Given the description of an element on the screen output the (x, y) to click on. 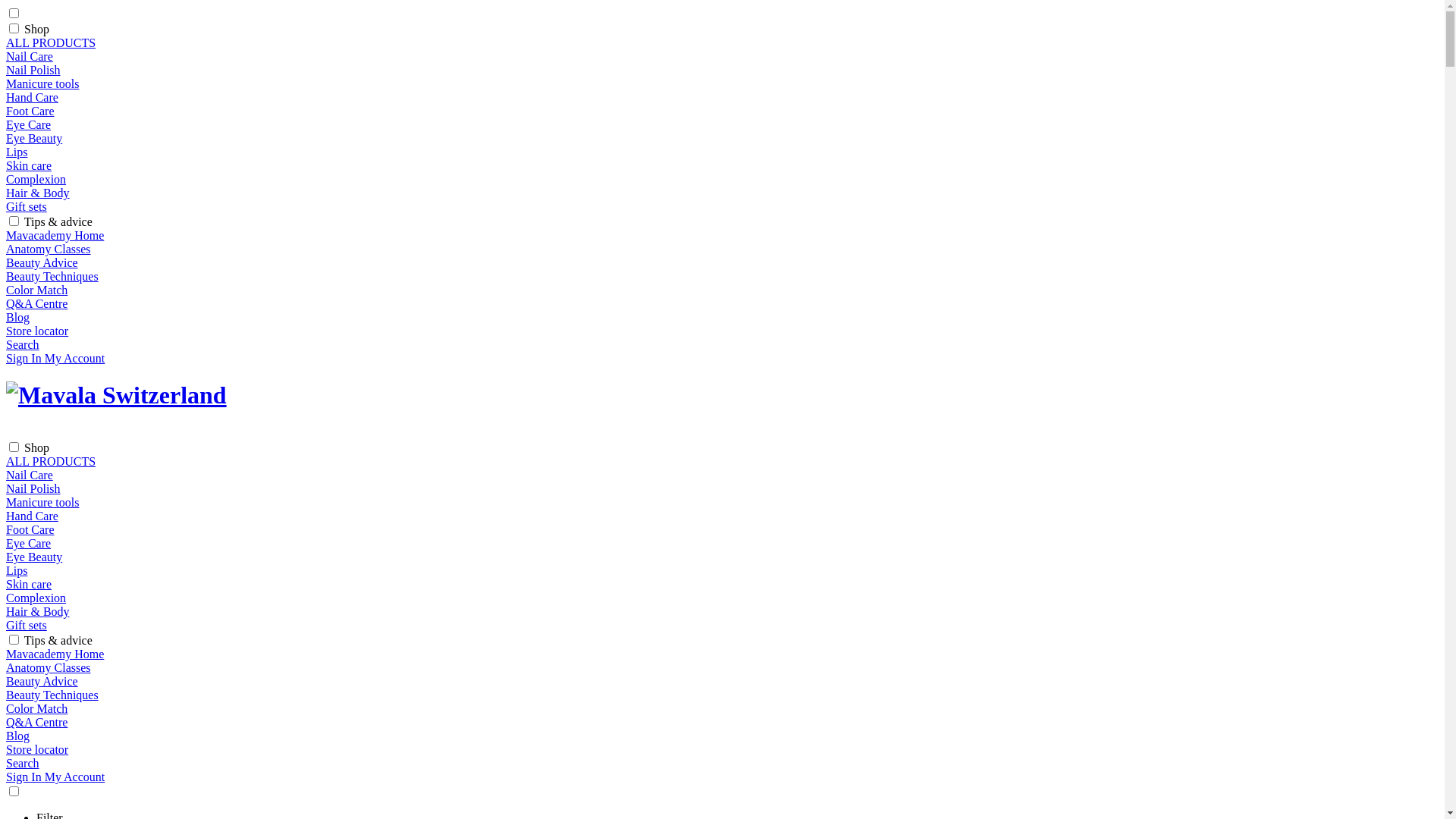
Lips Element type: text (16, 570)
Tips & advice Element type: text (58, 639)
Beauty Advice Element type: text (42, 262)
Store locator Element type: text (37, 749)
ALL PRODUCTS Element type: text (50, 42)
Search Element type: text (22, 344)
Eye Care Element type: text (28, 124)
Q&A Centre Element type: text (36, 721)
Eye Care Element type: text (28, 542)
Mavacademy Home Element type: text (54, 653)
ALL PRODUCTS Element type: text (50, 461)
Nail Polish Element type: text (33, 69)
Hair & Body Element type: text (37, 192)
Color Match Element type: text (36, 289)
Sign In My Account Element type: text (55, 776)
Nail Care Element type: text (29, 56)
Eye Beauty Element type: text (34, 556)
Nail Polish Element type: text (33, 488)
Nail Care Element type: text (29, 474)
Shop Element type: text (36, 447)
Mavacademy Home Element type: text (54, 235)
Sign In My Account Element type: text (55, 357)
Complexion Element type: text (35, 597)
Foot Care Element type: text (30, 110)
Gift sets Element type: text (26, 624)
Skin care Element type: text (28, 583)
Beauty Techniques Element type: text (52, 694)
Anatomy Classes Element type: text (48, 667)
Manicure tools Element type: text (42, 83)
Beauty Advice Element type: text (42, 680)
Manicure tools Element type: text (42, 501)
Skin care Element type: text (28, 165)
Beauty Techniques Element type: text (52, 275)
Shop Element type: text (36, 28)
Store locator Element type: text (37, 330)
Hand Care Element type: text (32, 97)
Q&A Centre Element type: text (36, 303)
Complexion Element type: text (35, 178)
Eye Beauty Element type: text (34, 137)
Tips & advice Element type: text (58, 221)
Blog Element type: text (17, 735)
Foot Care Element type: text (30, 529)
Hand Care Element type: text (32, 515)
Lips Element type: text (16, 151)
Hair & Body Element type: text (37, 611)
Gift sets Element type: text (26, 206)
Blog Element type: text (17, 316)
Anatomy Classes Element type: text (48, 248)
Color Match Element type: text (36, 708)
Search Element type: text (22, 762)
